Given the description of an element on the screen output the (x, y) to click on. 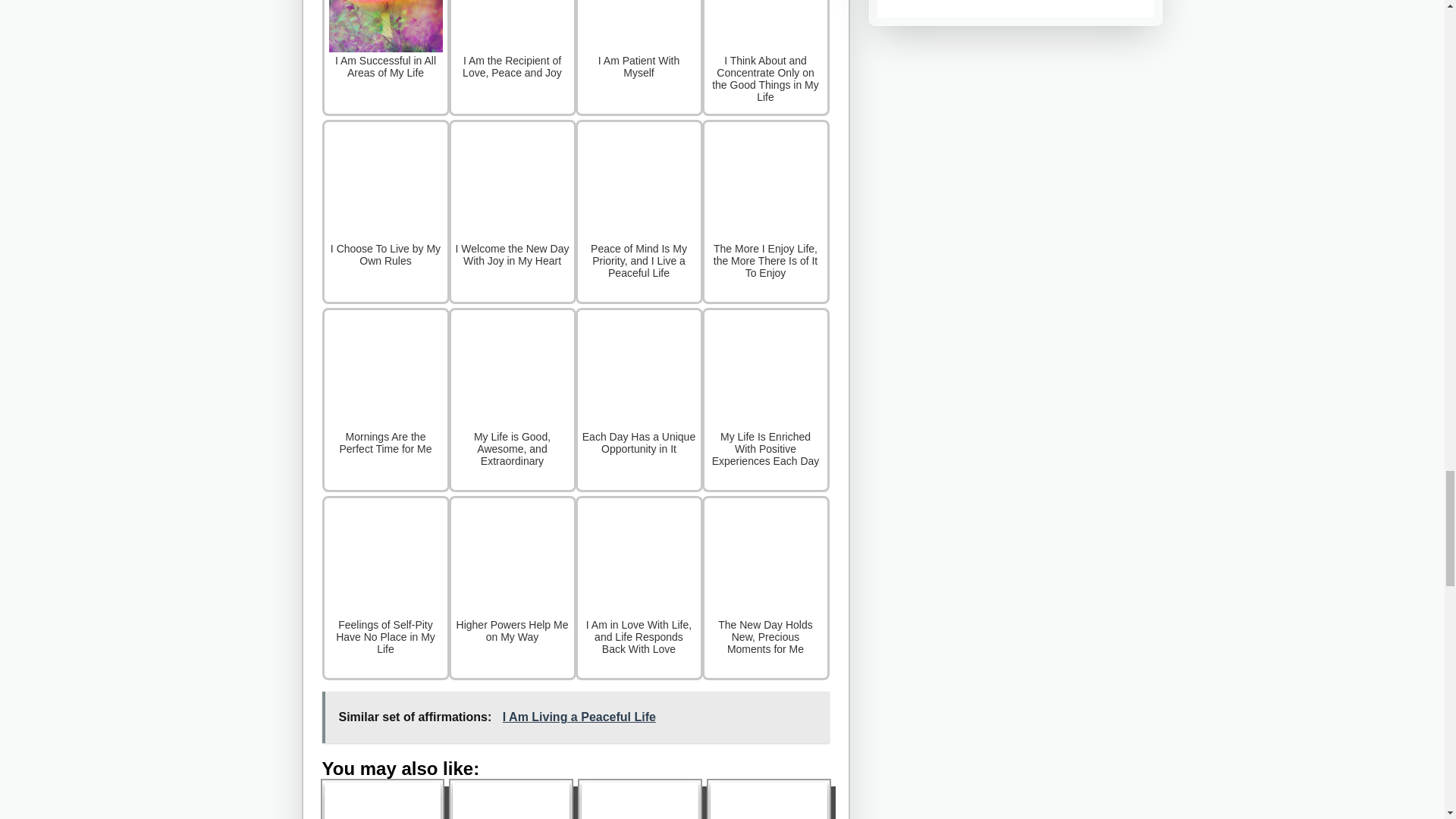
10 Perseverance Affirmations to Keep You Going (510, 800)
2 Powerful Affirmations To Keep You Going When It Gets Tough (381, 800)
I Am Successful in All Areas of My Life (384, 58)
51 Affirmations for Going Through Bad Times: Find Strength (768, 800)
Affirmations for Going Through Obstacles: 23 Mantras (640, 800)
